Given the description of an element on the screen output the (x, y) to click on. 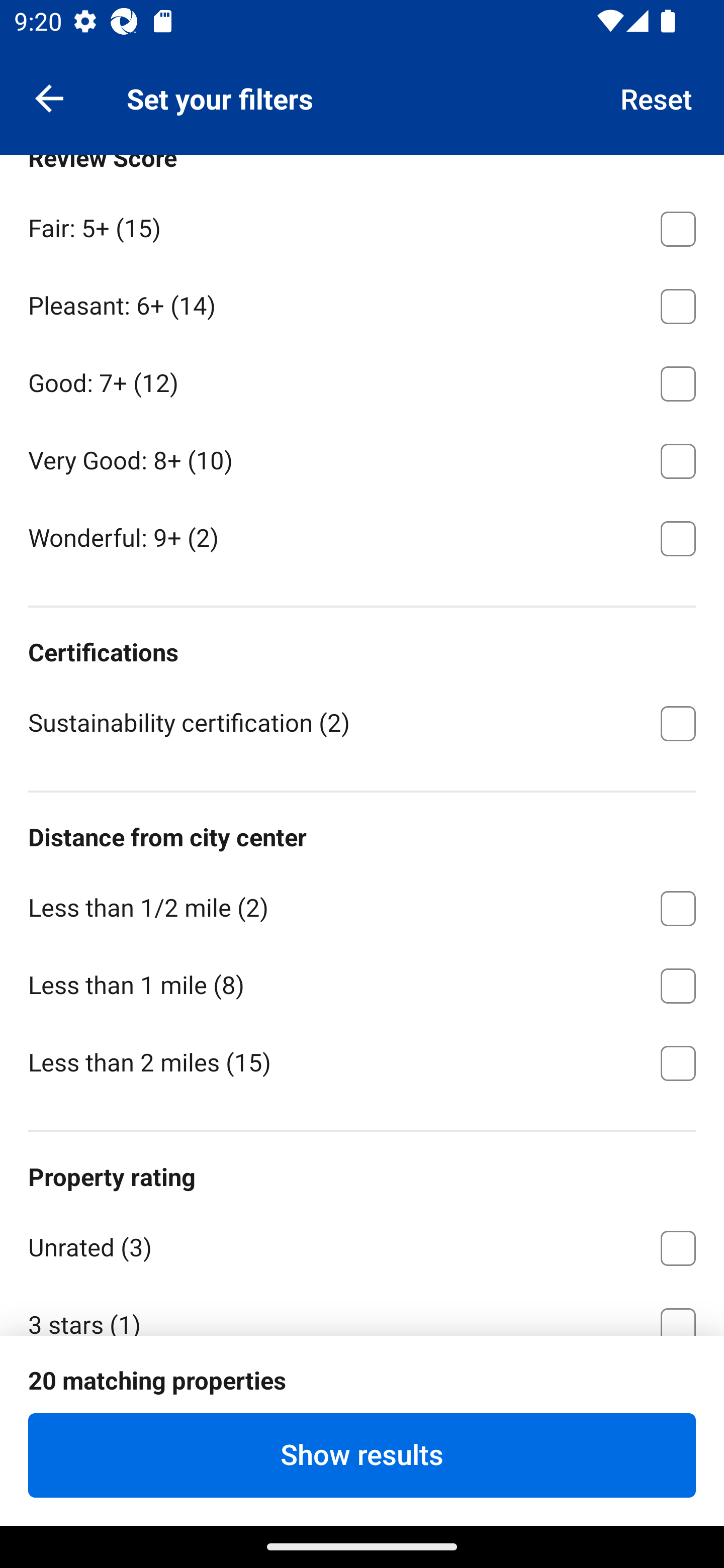
Navigate up (49, 97)
Reset (656, 97)
Fair: 5+ ⁦(15) (361, 225)
Pleasant: 6+ ⁦(14) (361, 302)
Good: 7+ ⁦(12) (361, 379)
Very Good: 8+ ⁦(10) (361, 457)
Wonderful: 9+ ⁦(2) (361, 537)
Sustainability certification ⁦(2) (361, 722)
Less than 1/2 mile ⁦(2) (361, 905)
Less than 1 mile ⁦(8) (361, 981)
Less than 2 miles ⁦(15) (361, 1061)
Unrated ⁦(3) (361, 1244)
3 stars ⁦(1) (361, 1309)
4 stars ⁦(13) (361, 1399)
Show results (361, 1454)
